Given the description of an element on the screen output the (x, y) to click on. 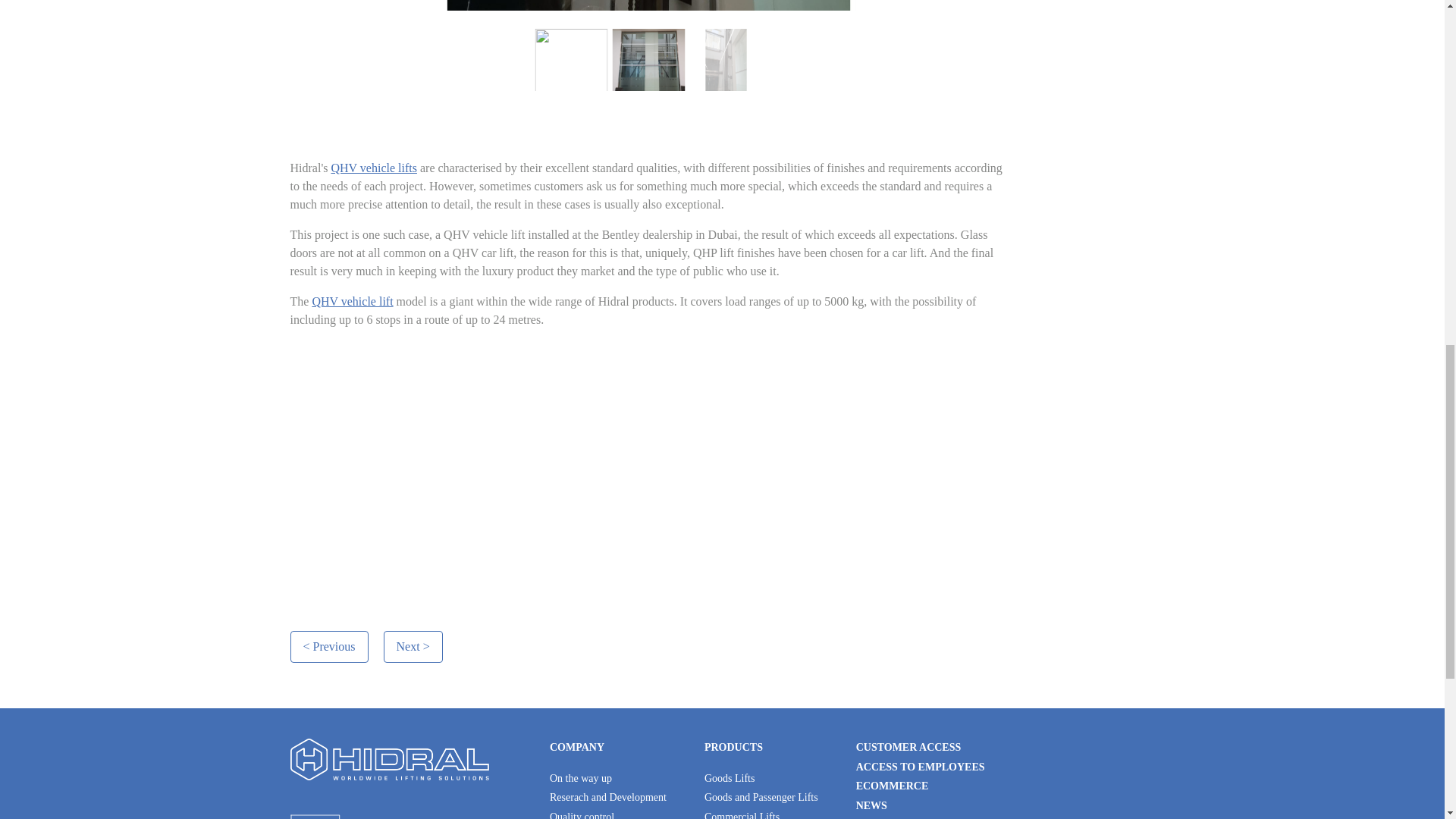
QHV vehicle lifts (373, 167)
QHV vehicle lift (352, 300)
YouTube video player (501, 460)
